Given the description of an element on the screen output the (x, y) to click on. 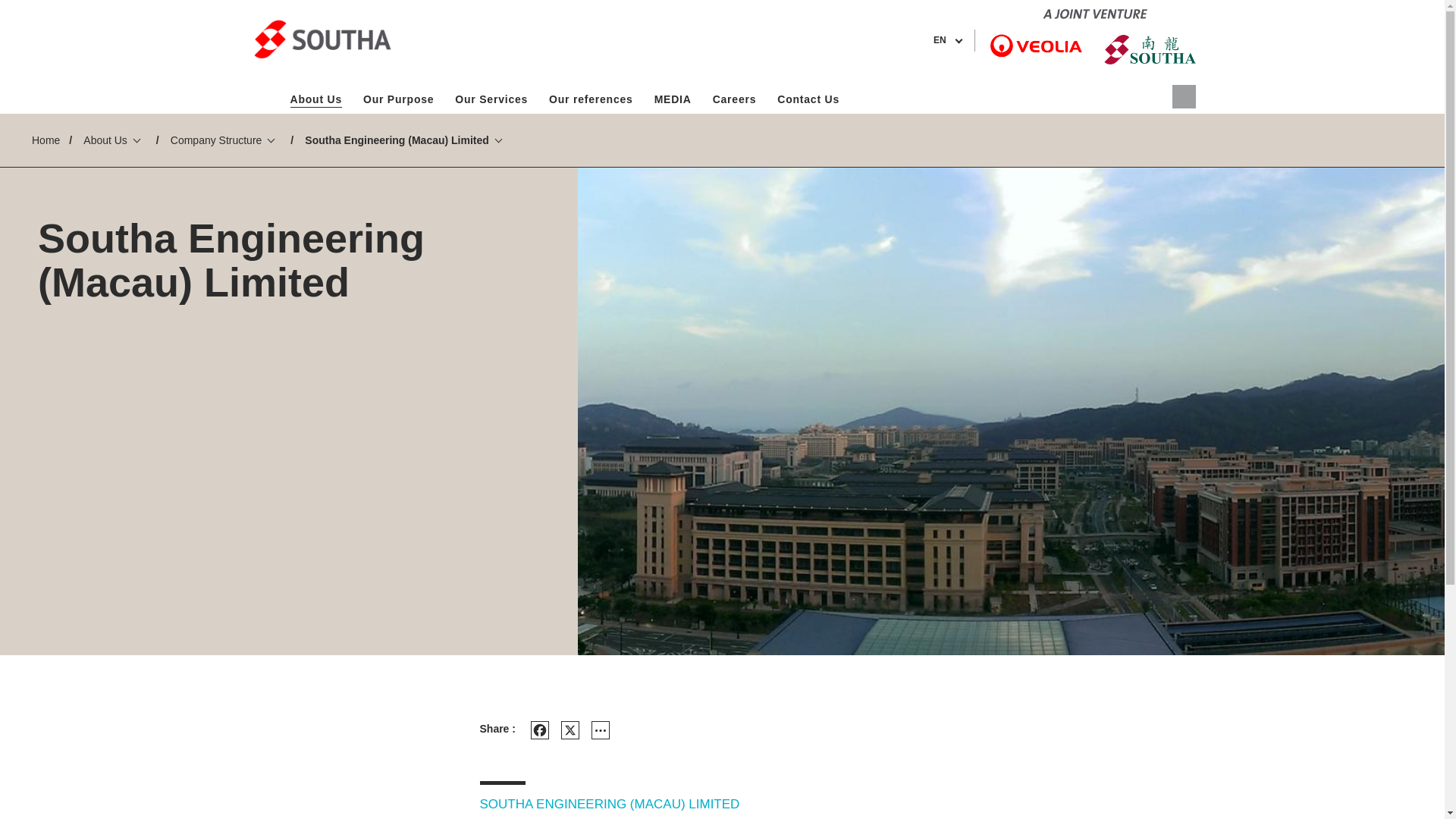
MEDIA (672, 99)
Our references (590, 99)
Home (263, 99)
About Us (315, 99)
Veolia (320, 38)
About Us (315, 99)
EN (947, 40)
Our Services (491, 99)
Our Purpose (398, 99)
